Given the description of an element on the screen output the (x, y) to click on. 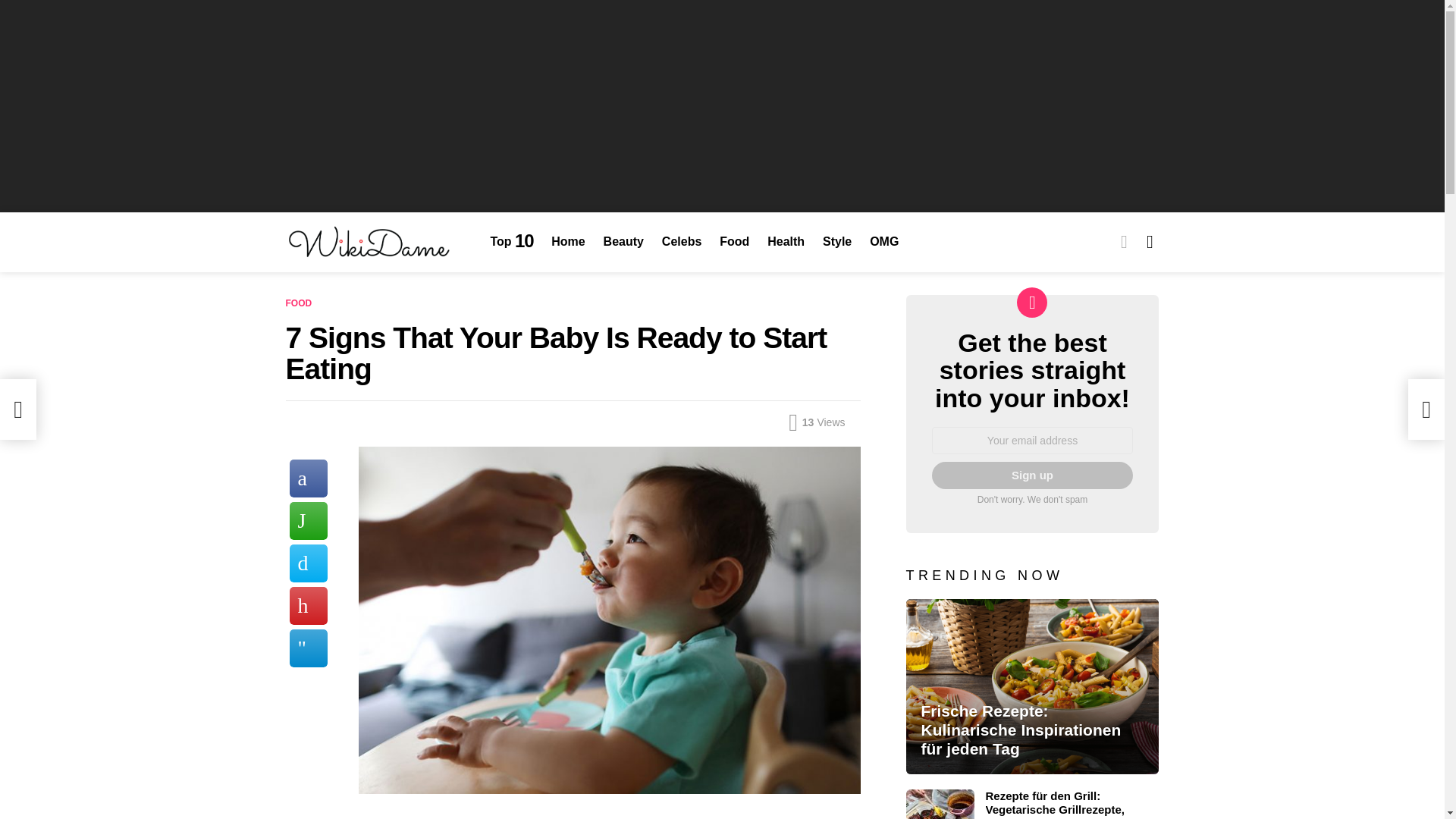
Share on Twitter (308, 563)
Sign up (1031, 474)
OMG (883, 241)
Food (734, 241)
Beauty (622, 241)
FOOD (301, 303)
Health (786, 241)
Sign up (1031, 474)
Share on WhatsApp (308, 520)
